Given the description of an element on the screen output the (x, y) to click on. 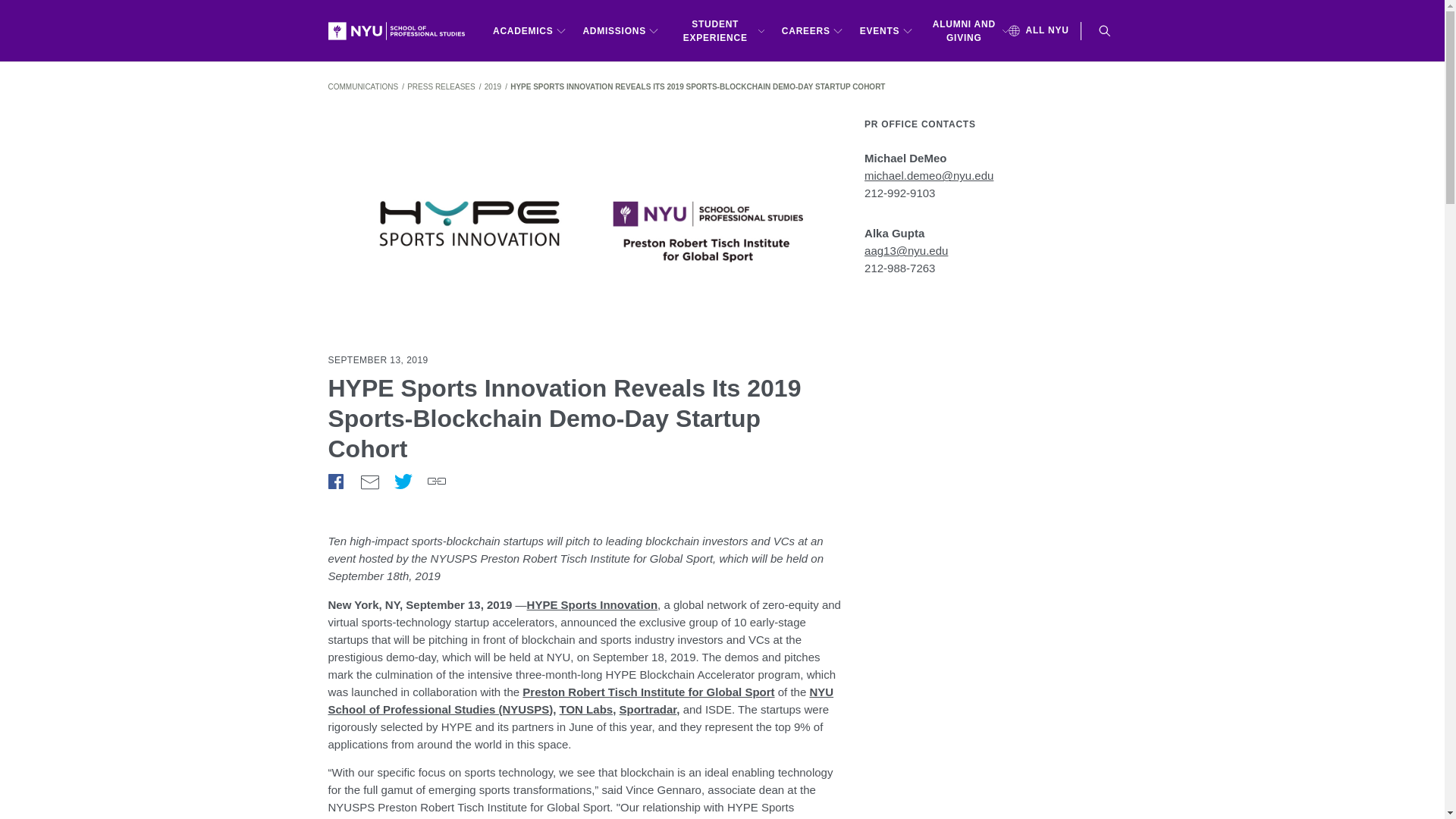
ADMISSIONS (620, 30)
NYU Homepage (401, 30)
ACADEMICS (529, 30)
